Given the description of an element on the screen output the (x, y) to click on. 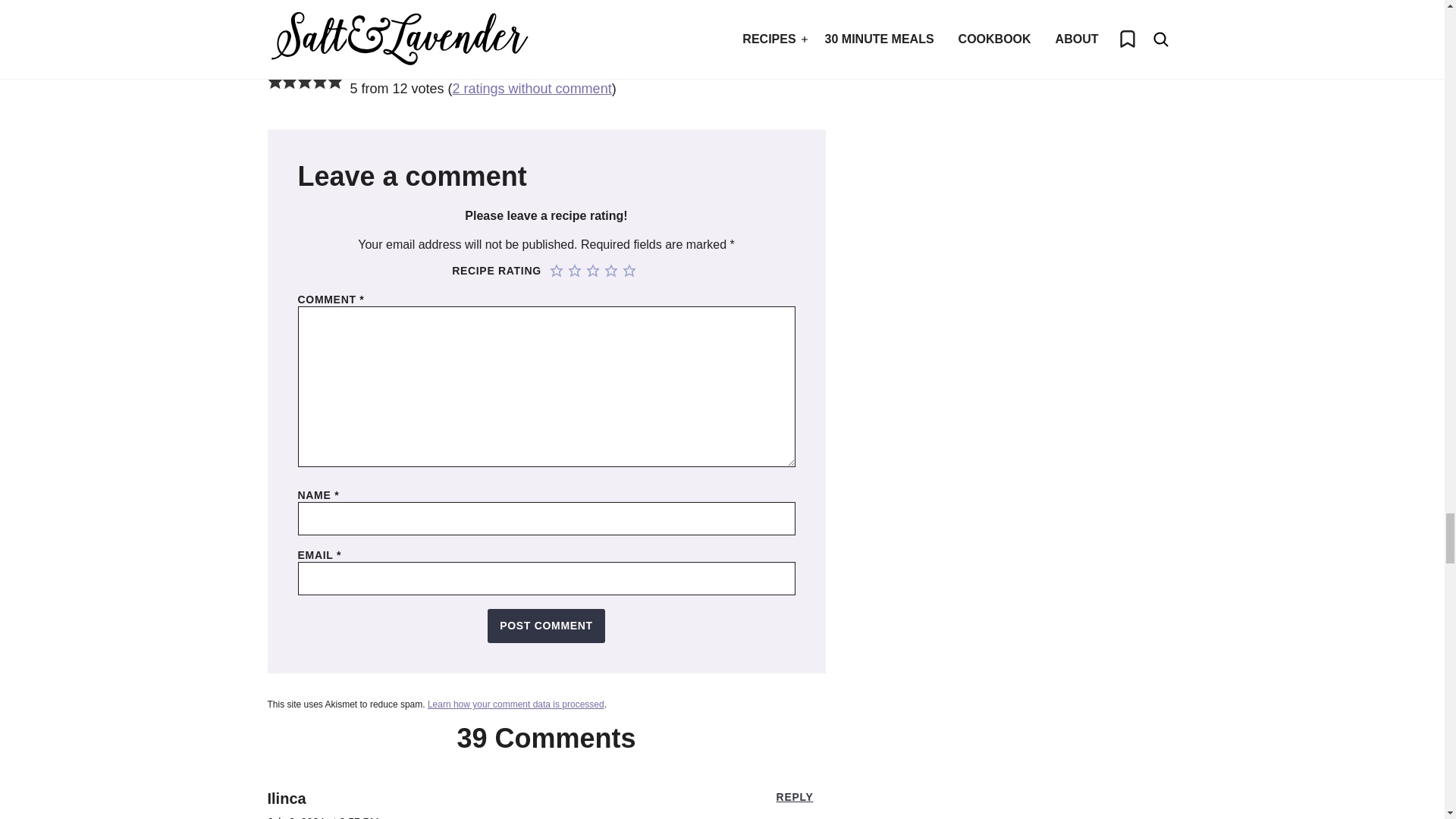
Post Comment (546, 625)
